Given the description of an element on the screen output the (x, y) to click on. 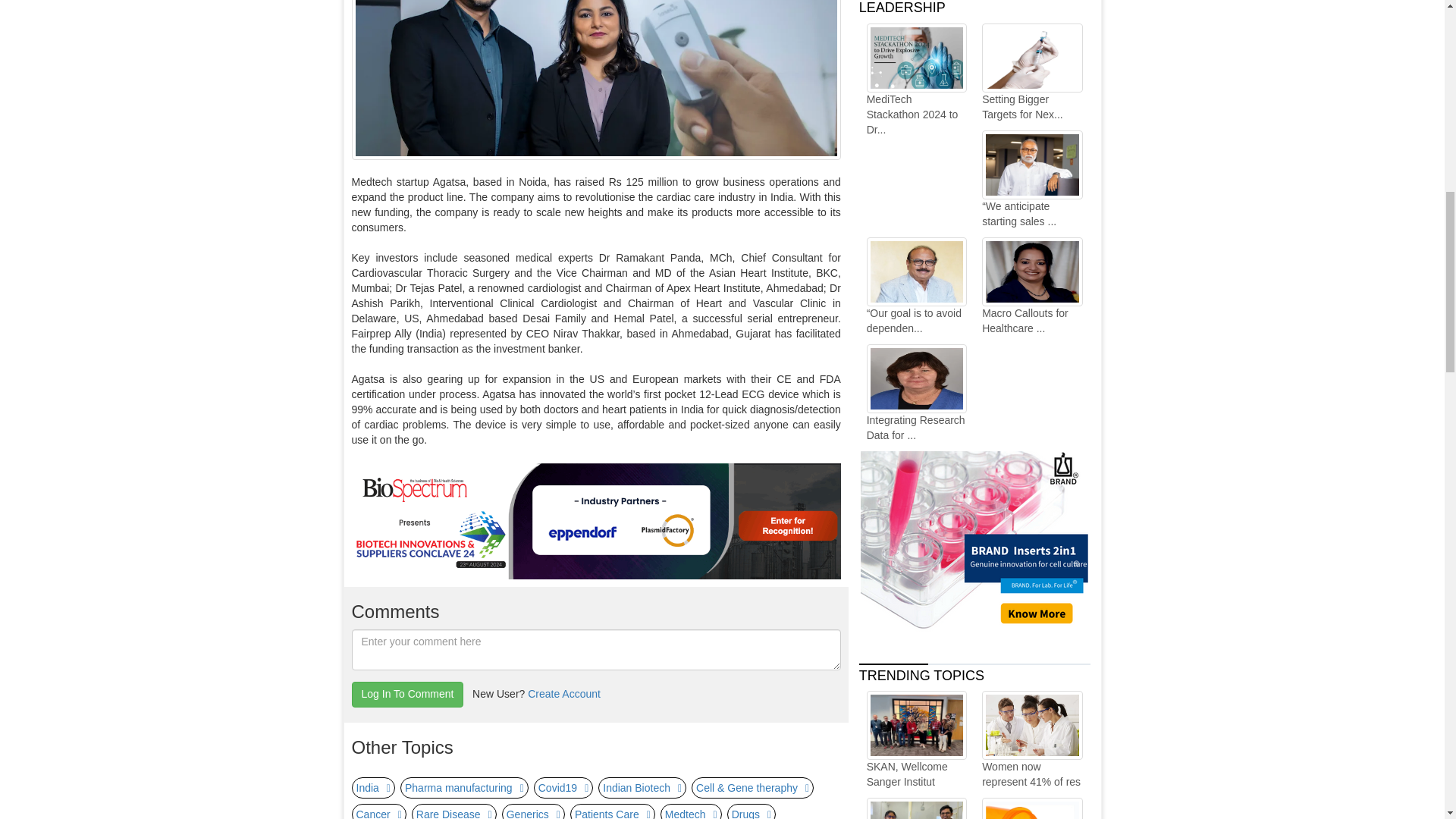
Setting Bigger Targets for Next-gen Vaccines (1031, 72)
Macro Callouts for Healthcare Investing in India (1031, 286)
